Given the description of an element on the screen output the (x, y) to click on. 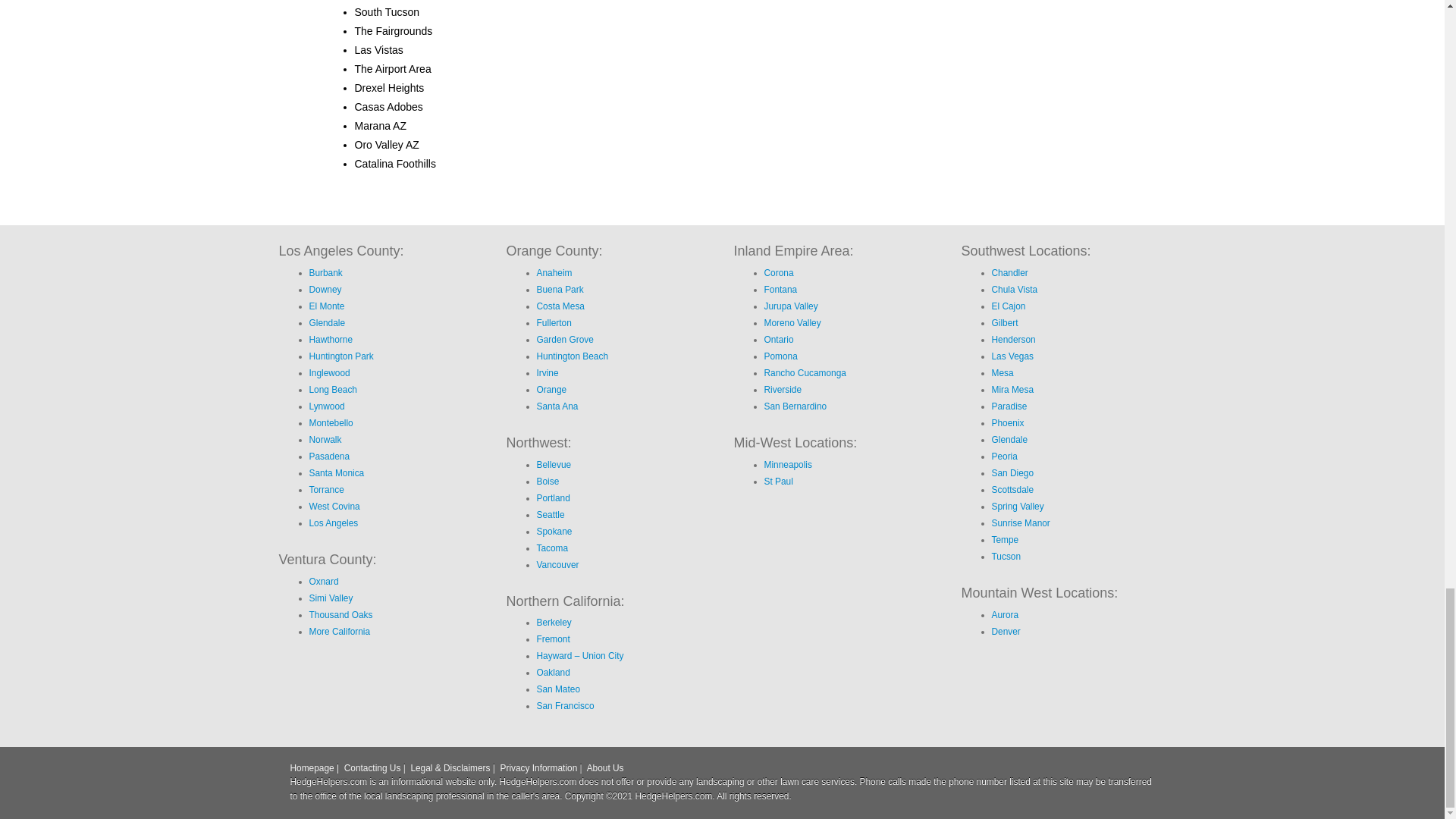
Burbank (325, 272)
Huntington Park (341, 356)
Inglewood (329, 372)
Montebello (330, 422)
Portland (553, 498)
El Monte (326, 306)
Costa Mesa (561, 306)
Boise (548, 480)
Seattle (550, 514)
West Covina (333, 506)
